Given the description of an element on the screen output the (x, y) to click on. 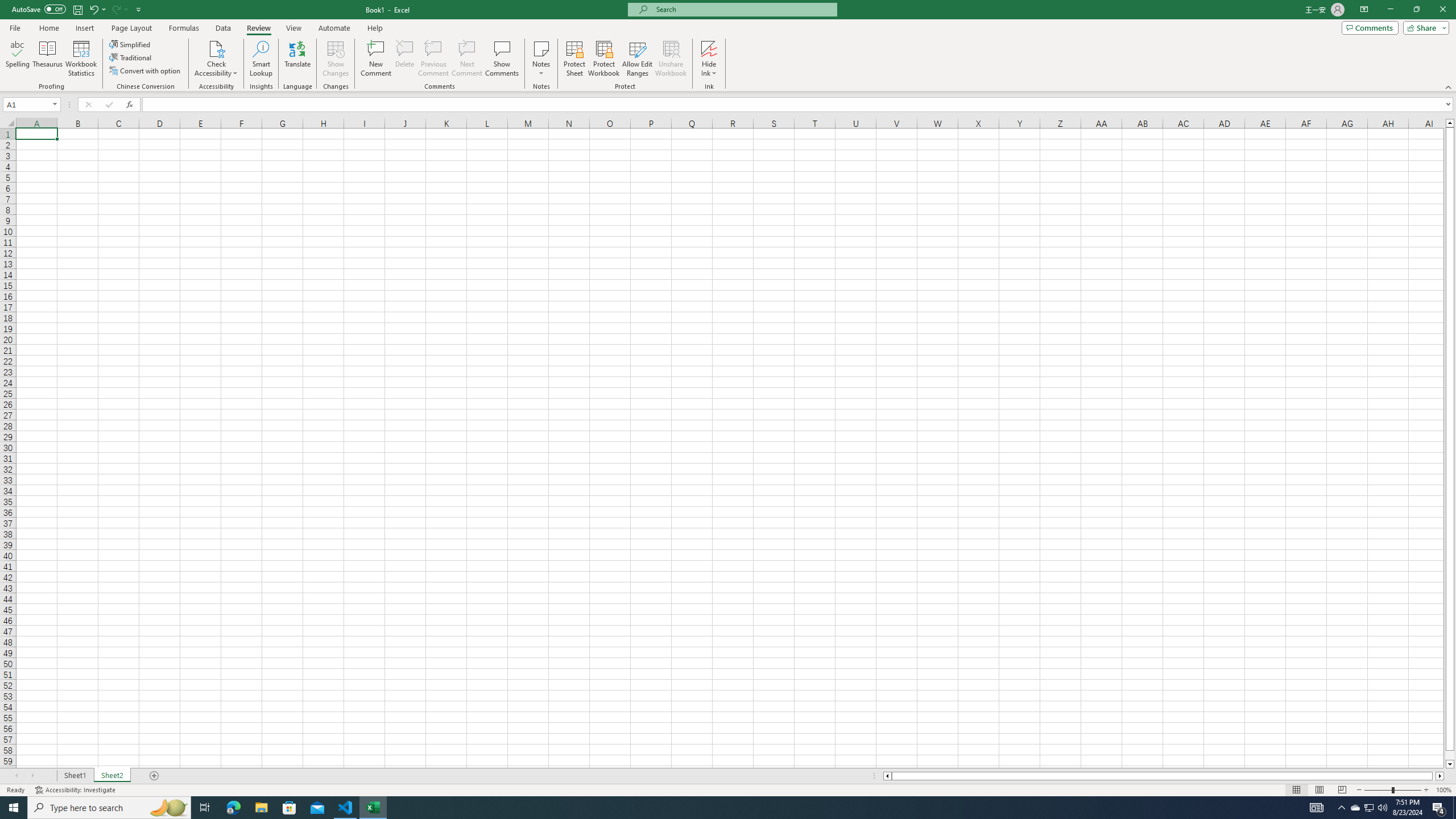
Formula Bar (799, 104)
Page down (1449, 755)
Next Comment (466, 58)
Sheet2 (112, 775)
Thesaurus... (47, 58)
Smart Lookup (260, 58)
